Given the description of an element on the screen output the (x, y) to click on. 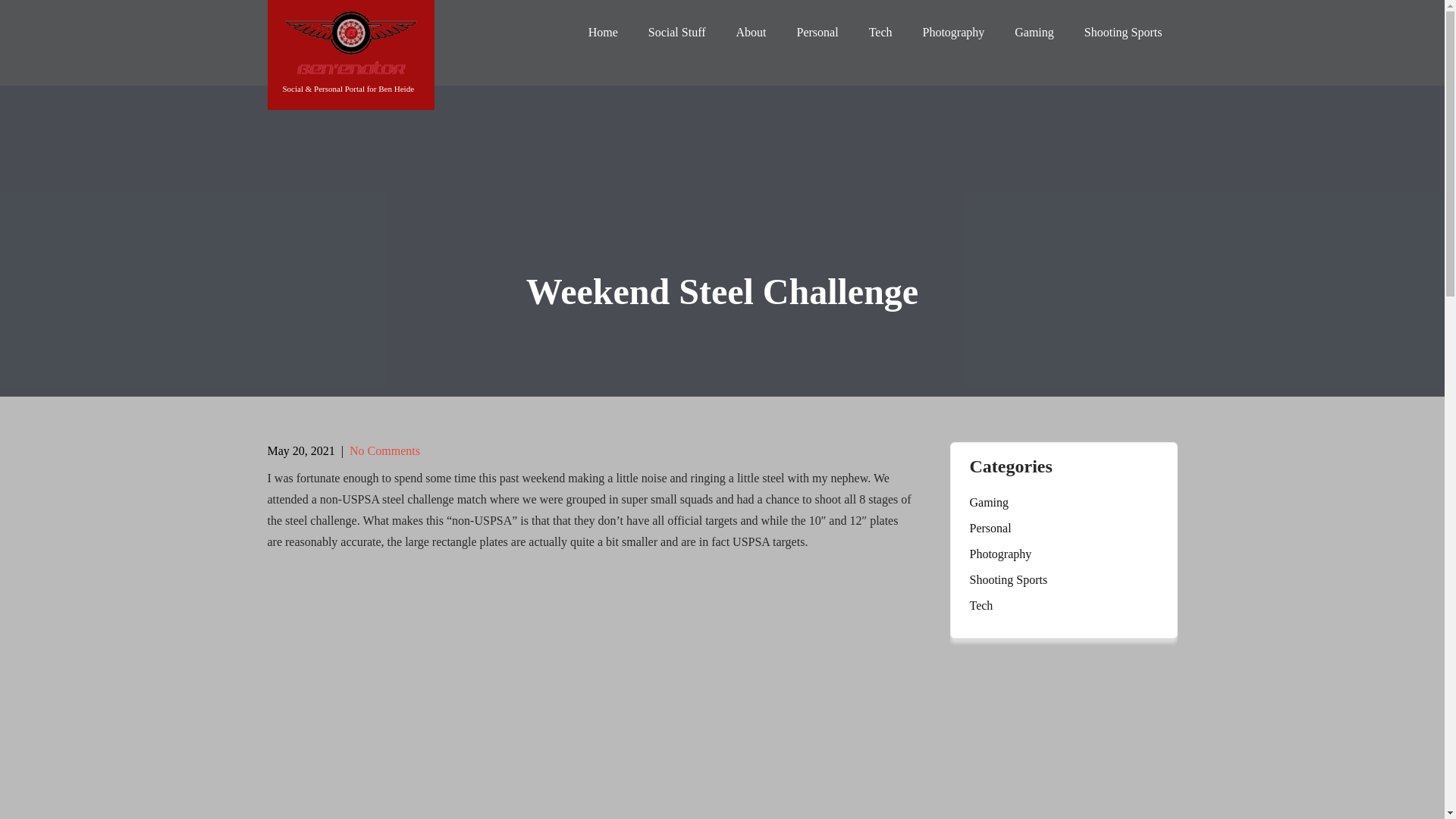
Shooting Sports (1122, 32)
Shooting Sports (1007, 579)
Gaming (1033, 32)
Personal (989, 528)
Gaming (989, 502)
No Comments (384, 450)
Social Stuff (676, 32)
Personal (817, 32)
Home (603, 32)
